Given the description of an element on the screen output the (x, y) to click on. 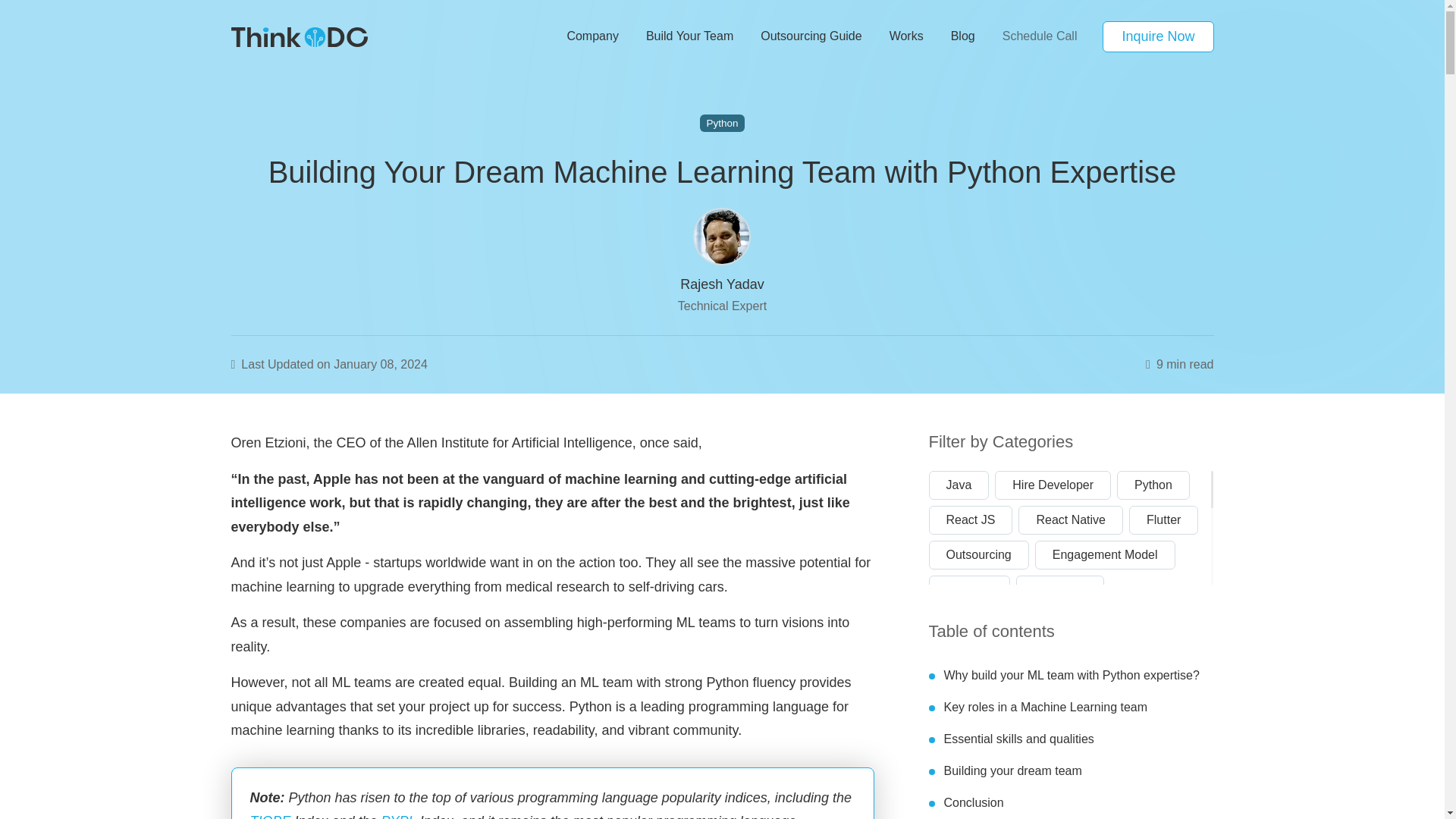
Web App (1051, 693)
Company (592, 36)
Inquire Now (1157, 36)
Mobile App (1058, 658)
Python (722, 122)
iOS (1098, 623)
Full Stack (1059, 588)
Software (1153, 658)
Outsourcing Guide (810, 36)
PHP (1162, 623)
Flutter (1163, 519)
Works (906, 36)
Vue JS (964, 693)
Java (958, 484)
PYPL (398, 816)
